Given the description of an element on the screen output the (x, y) to click on. 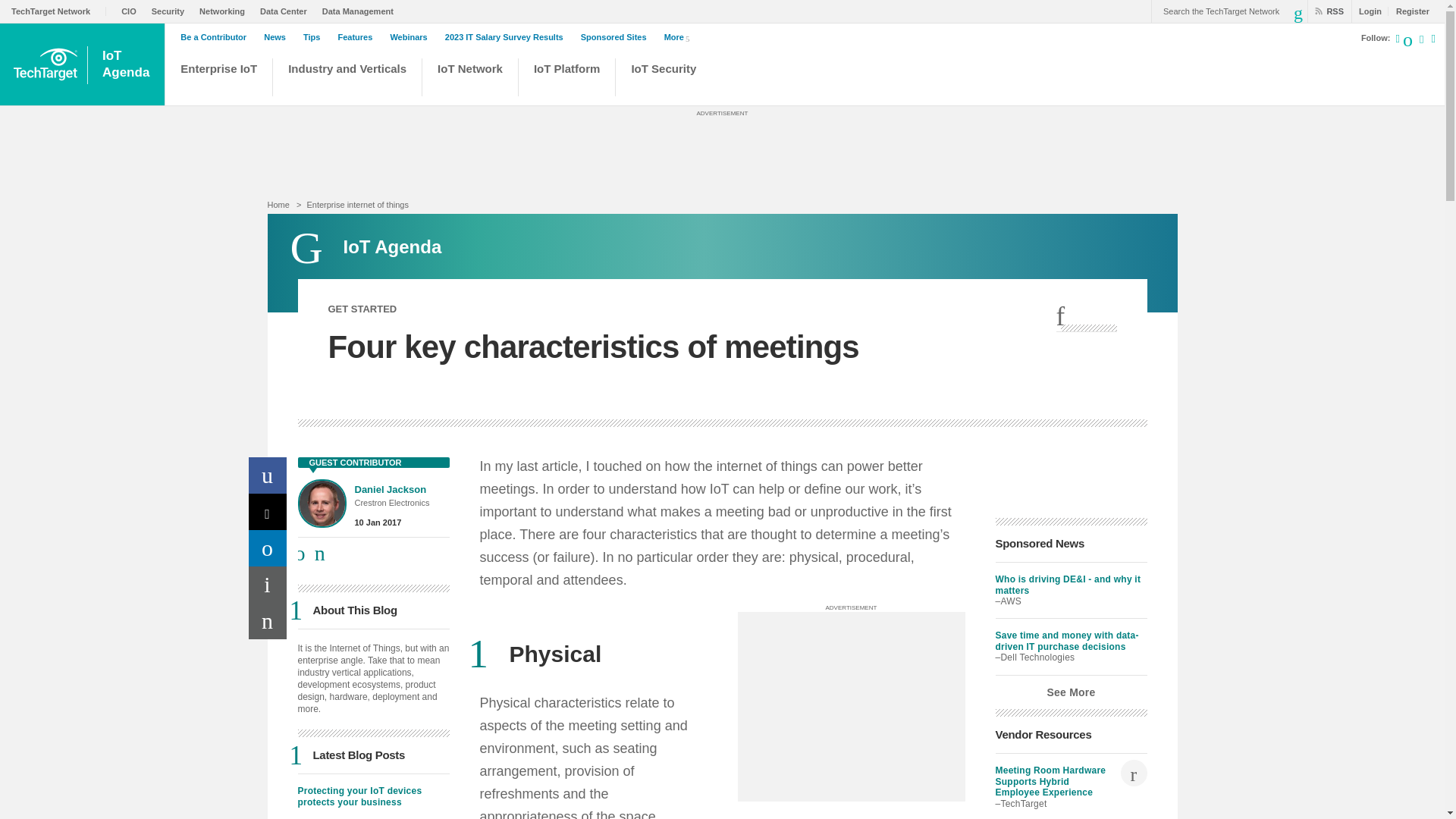
Share on Facebook (267, 475)
Share on X (267, 511)
Networking (225, 10)
Share this (1085, 316)
CIO (132, 10)
Sponsored Sites (616, 36)
IoT Security (671, 79)
Enterprise IoT (218, 79)
Tips (314, 36)
